Given the description of an element on the screen output the (x, y) to click on. 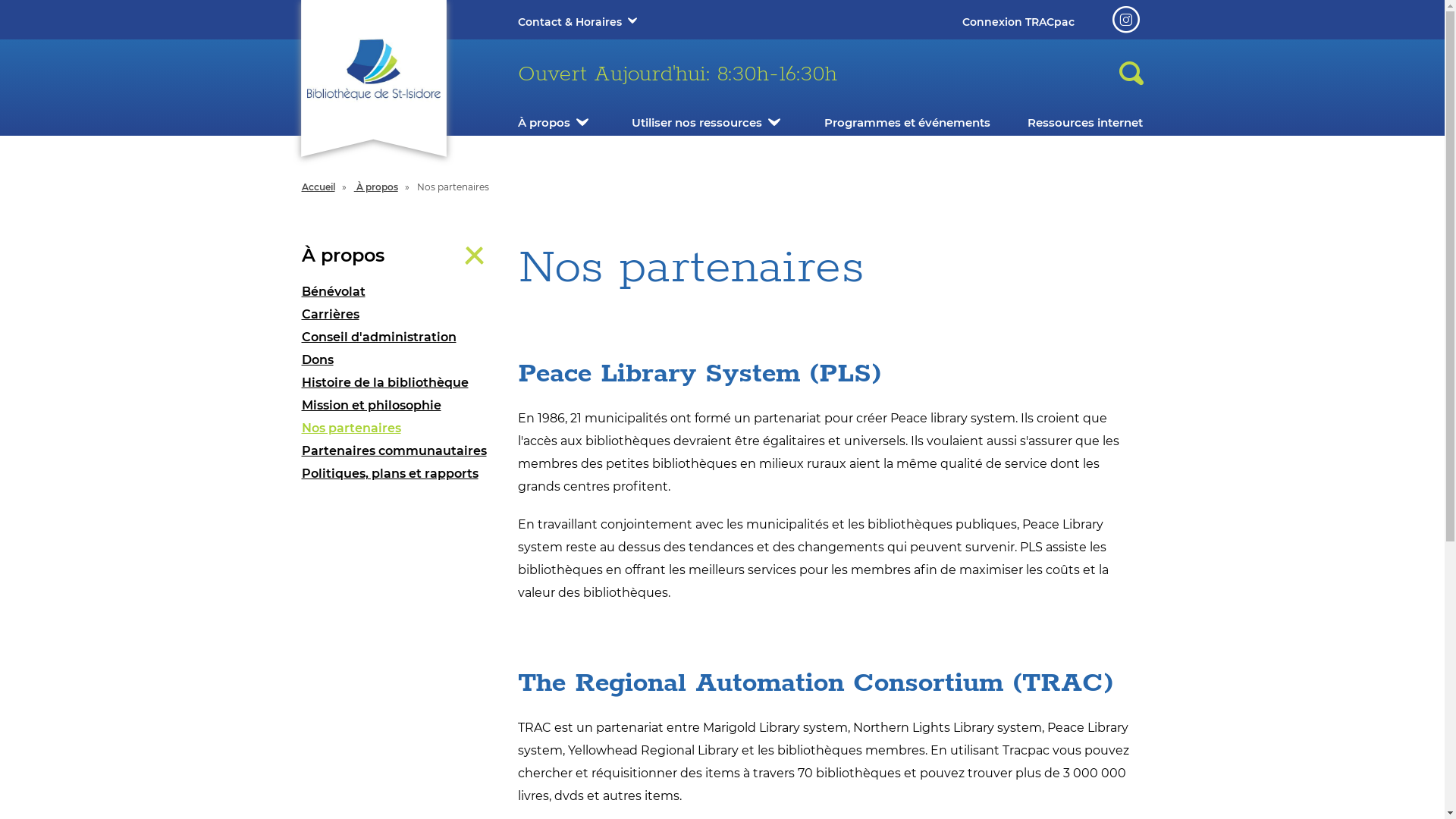
Instagram Element type: hover (1125, 19)
Nos partenaires Element type: text (398, 428)
Dons Element type: text (398, 359)
Utiliser nos ressources Element type: text (696, 122)
Contact & Horaires Element type: text (569, 21)
Ressources internet Element type: text (1084, 122)
Politiques, plans et rapports Element type: text (398, 473)
Conseil d'administration Element type: text (398, 337)
Accueil Element type: text (318, 186)
Connexion TRACpac Element type: text (1017, 21)
Mission et philosophie Element type: text (398, 405)
Partenaires communautaires Element type: text (398, 450)
